Given the description of an element on the screen output the (x, y) to click on. 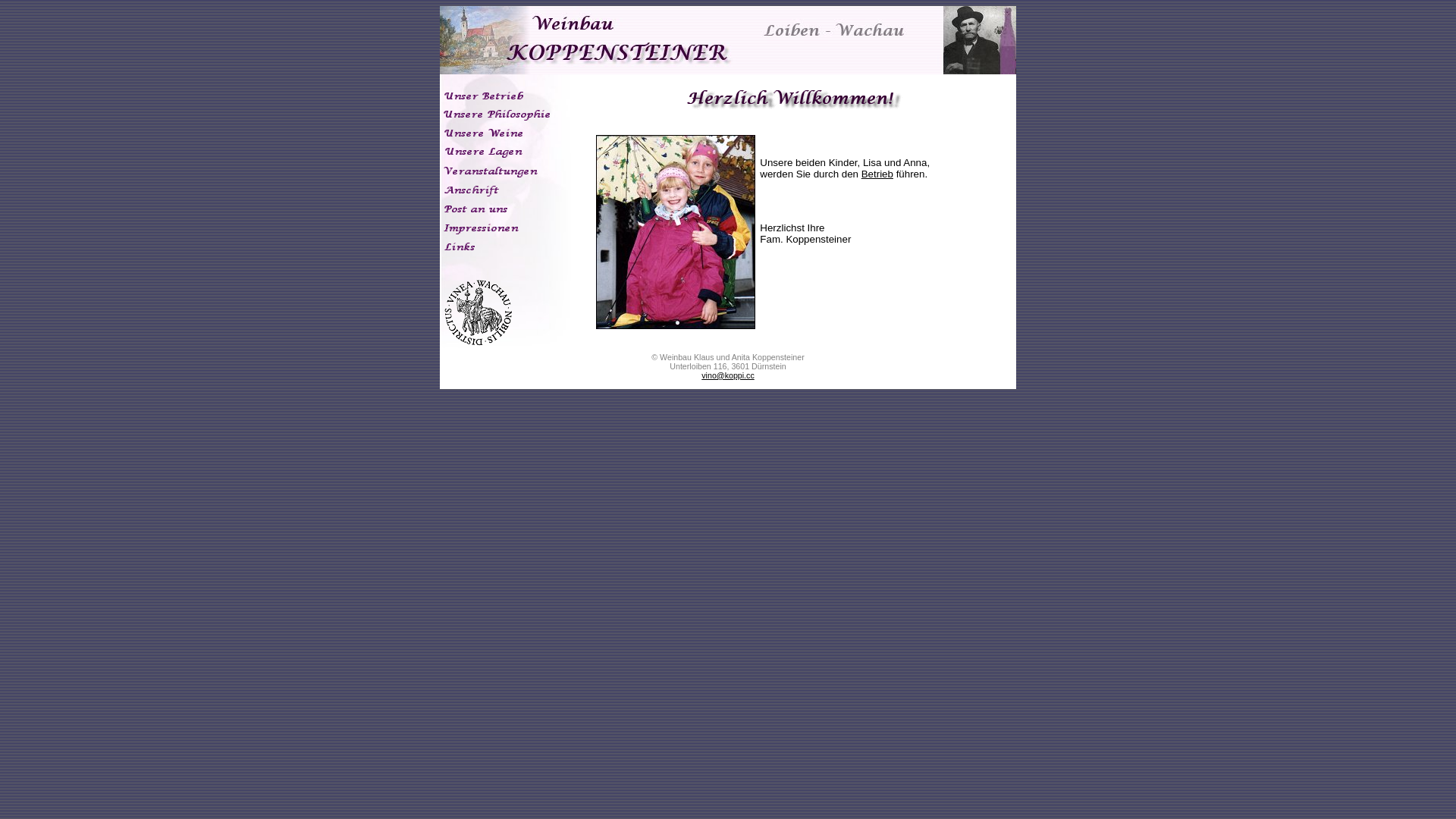
vino@koppi.cc Element type: text (727, 374)
Betrieb Element type: text (877, 173)
